Given the description of an element on the screen output the (x, y) to click on. 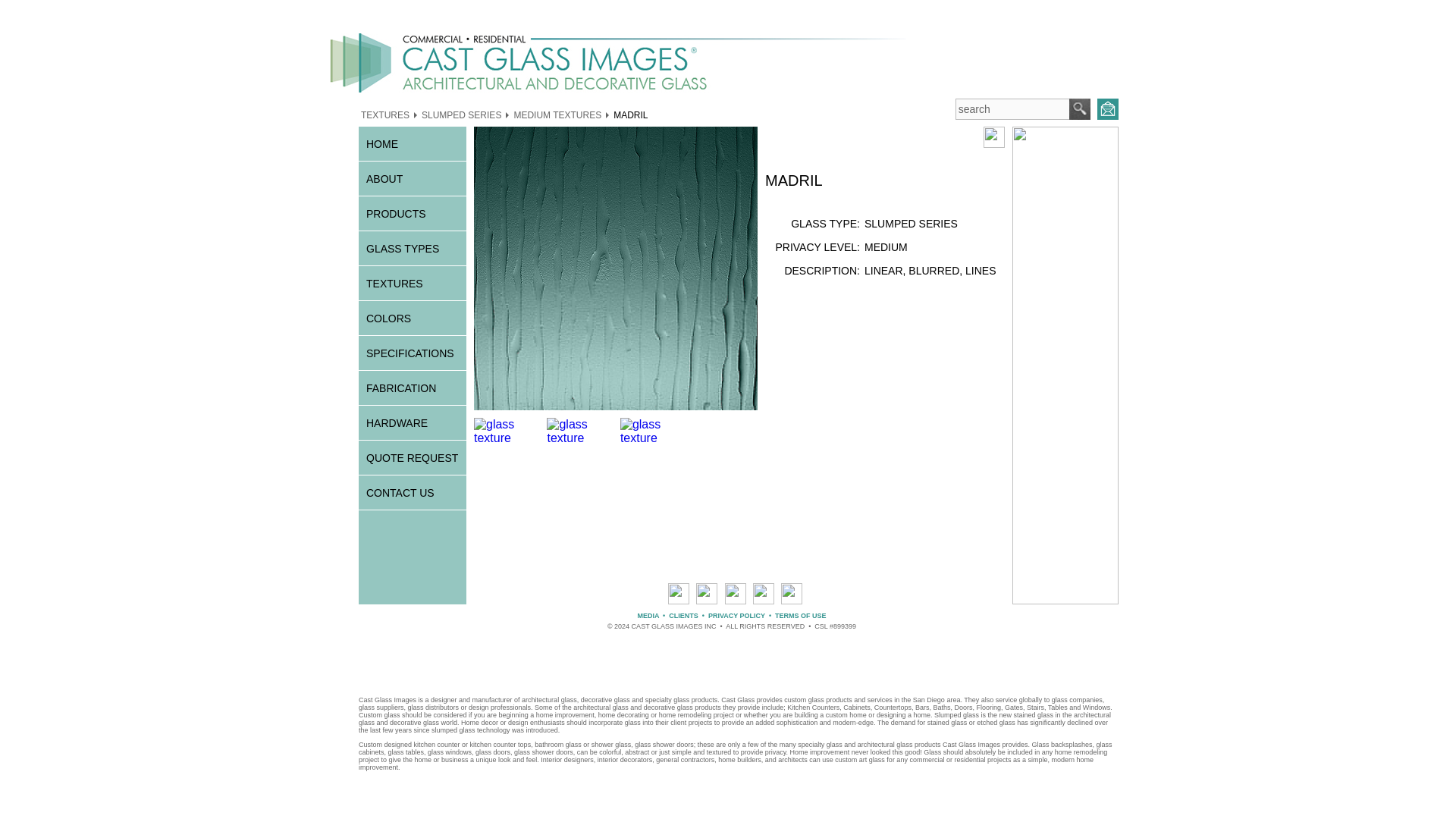
MEDIA (648, 615)
QUOTE REQUEST (411, 457)
MADRIL (630, 113)
Visit us on Houzz. (791, 599)
TEXTURES (385, 113)
CONTACT US (411, 492)
CLIENTS (683, 615)
SPECIFICATIONS (411, 352)
Visit us on Facebook. (678, 599)
HARDWARE (411, 422)
GLASS TYPES (411, 247)
HOME (411, 143)
MEDIUM TEXTURES (557, 113)
TERMS OF USE (800, 615)
COLORS (411, 317)
